Given the description of an element on the screen output the (x, y) to click on. 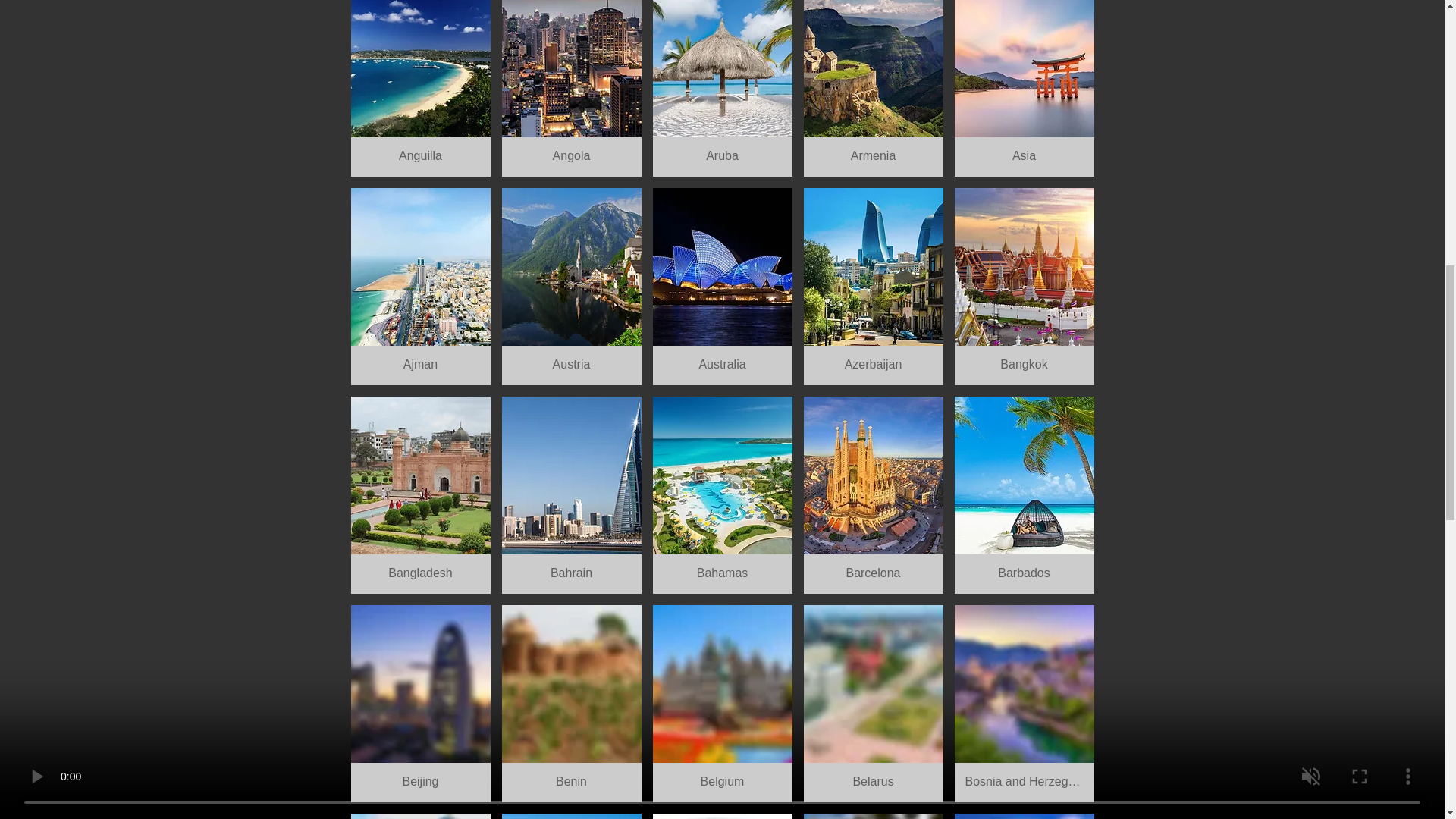
Anguilla (419, 88)
Burkina Faso (873, 816)
Belgium (722, 703)
Armenia (873, 88)
Brunei (1023, 816)
Austria (572, 286)
Botswana (572, 816)
Australia (722, 286)
Angola (572, 88)
Barbados (1023, 494)
Bahamas (722, 494)
Beijing (419, 703)
Aruba (722, 88)
Bulgaria (419, 816)
Bahrain (572, 494)
